Given the description of an element on the screen output the (x, y) to click on. 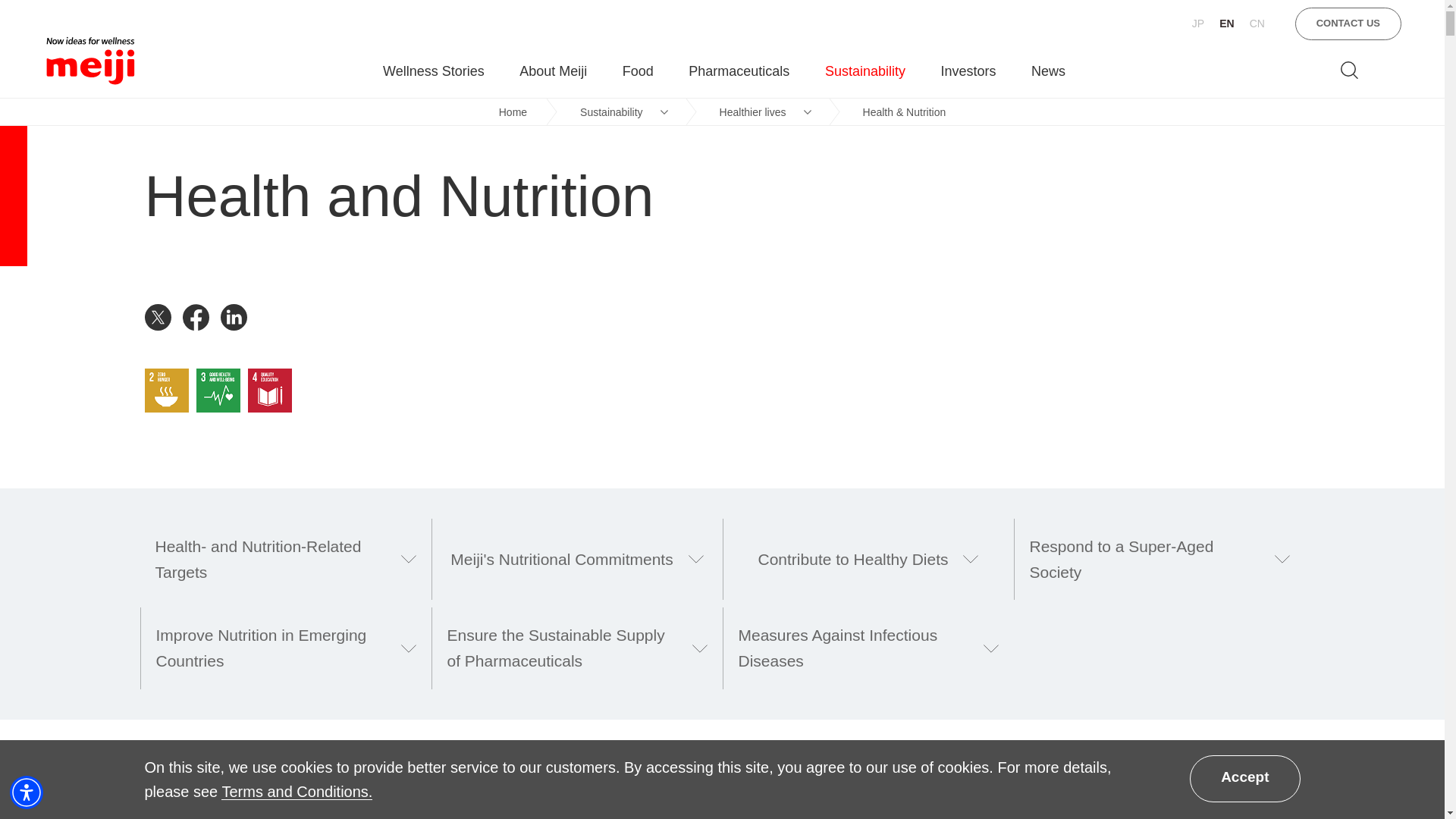
Accessibility Menu (26, 792)
Twitter (163, 316)
